Given the description of an element on the screen output the (x, y) to click on. 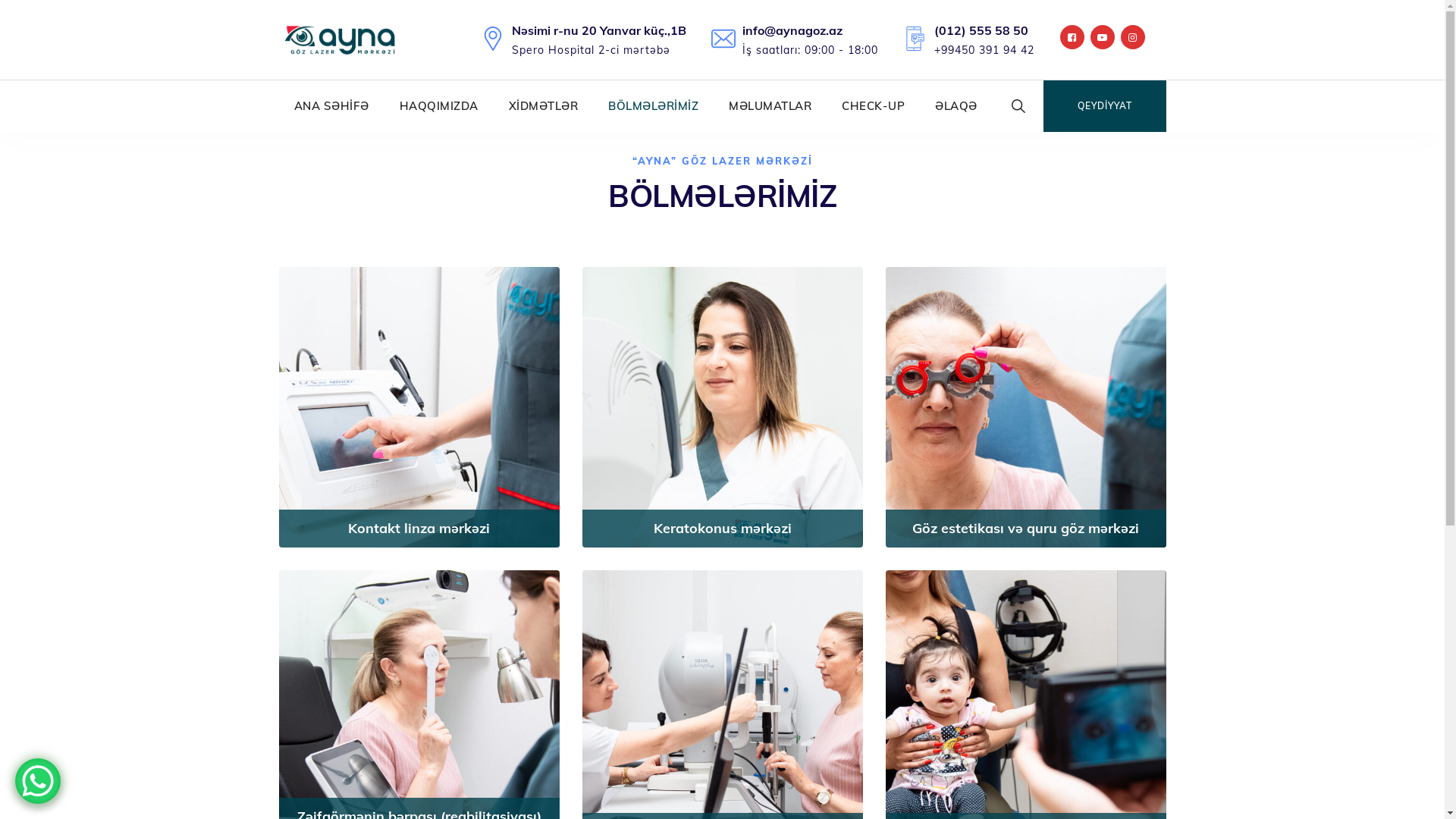
QEYDIYYAT Element type: text (1104, 105)
2E7A9576 Element type: hover (1025, 406)
(012) 555 58 50
+99450 391 94 42 Element type: text (984, 39)
HAQQIMIZDA Element type: text (437, 105)
2E7A9373 Element type: hover (722, 406)
CHECK-UP Element type: text (872, 105)
2E7A9443 Element type: hover (419, 406)
